Given the description of an element on the screen output the (x, y) to click on. 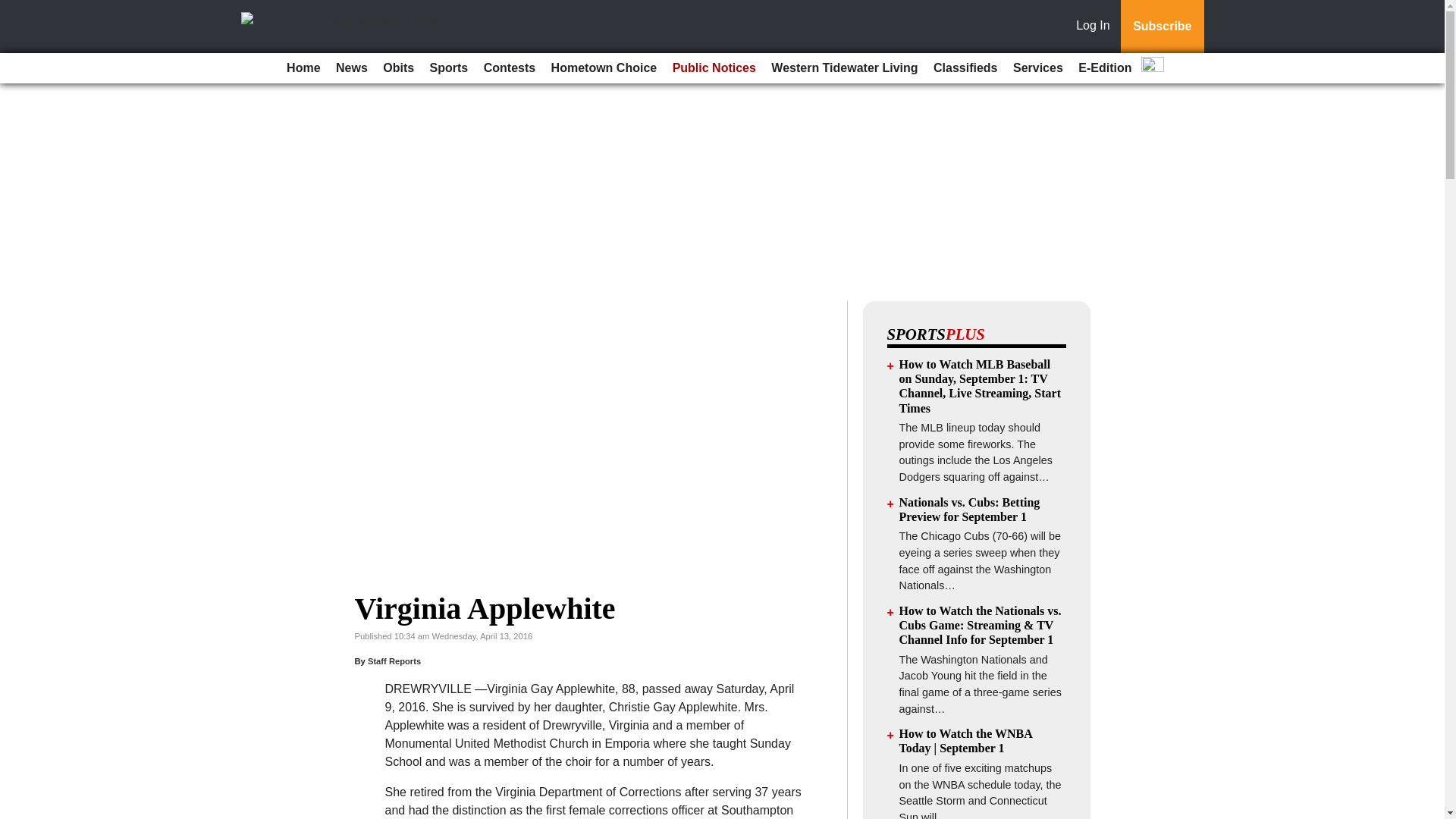
Log In (1095, 26)
Public Notices (713, 68)
News (352, 68)
Classifieds (965, 68)
Western Tidewater Living (844, 68)
Contests (509, 68)
Obits (398, 68)
Subscribe (1162, 26)
Staff Reports (394, 660)
Hometown Choice (603, 68)
